Given the description of an element on the screen output the (x, y) to click on. 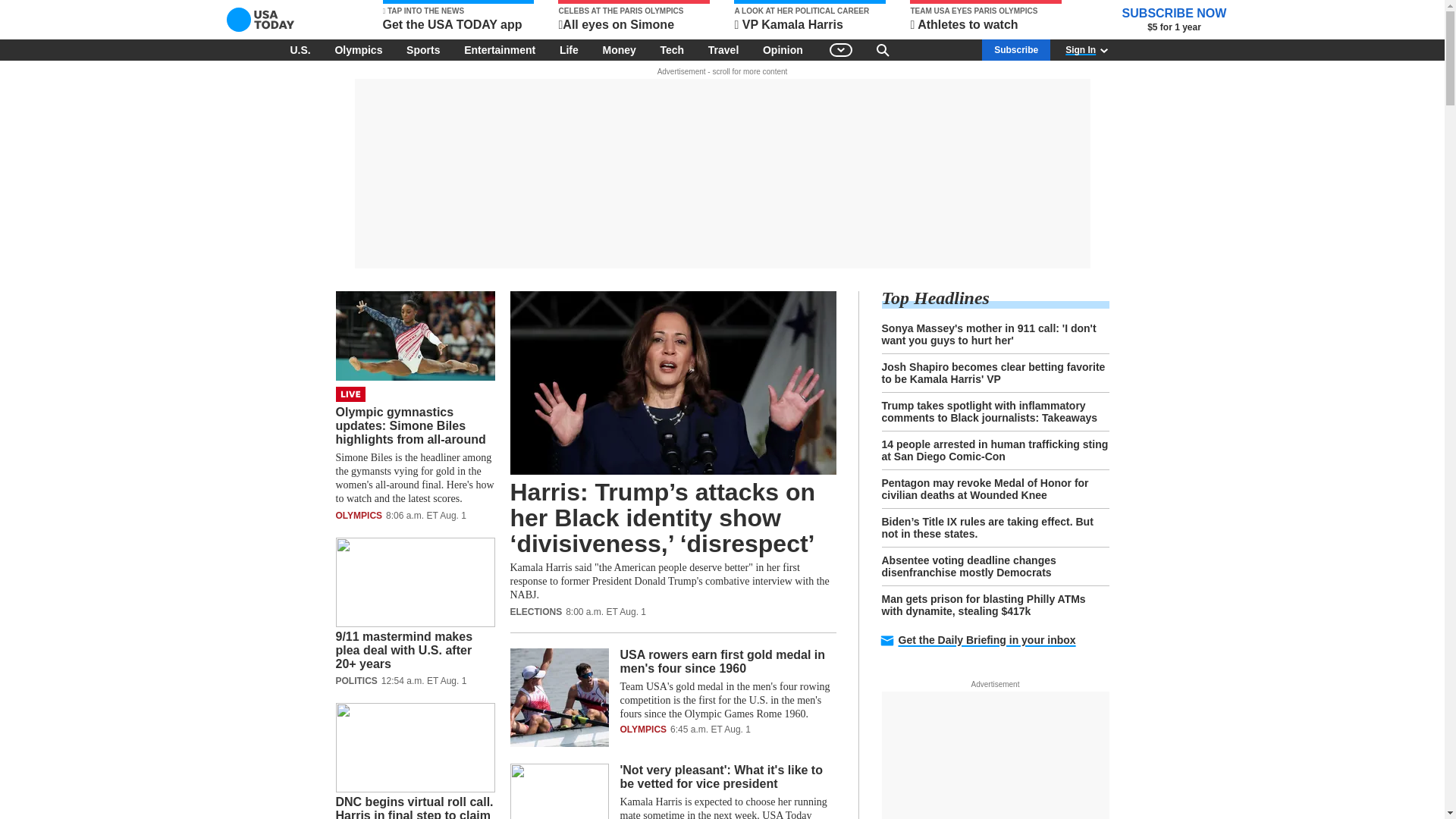
Tech (671, 49)
Money (618, 49)
Sports (422, 49)
Search (882, 49)
Get the USA TODAY app (457, 17)
Travel (722, 49)
Olympics (358, 49)
U.S. (299, 49)
Life (568, 49)
Entertainment (500, 49)
Opinion (782, 49)
